Given the description of an element on the screen output the (x, y) to click on. 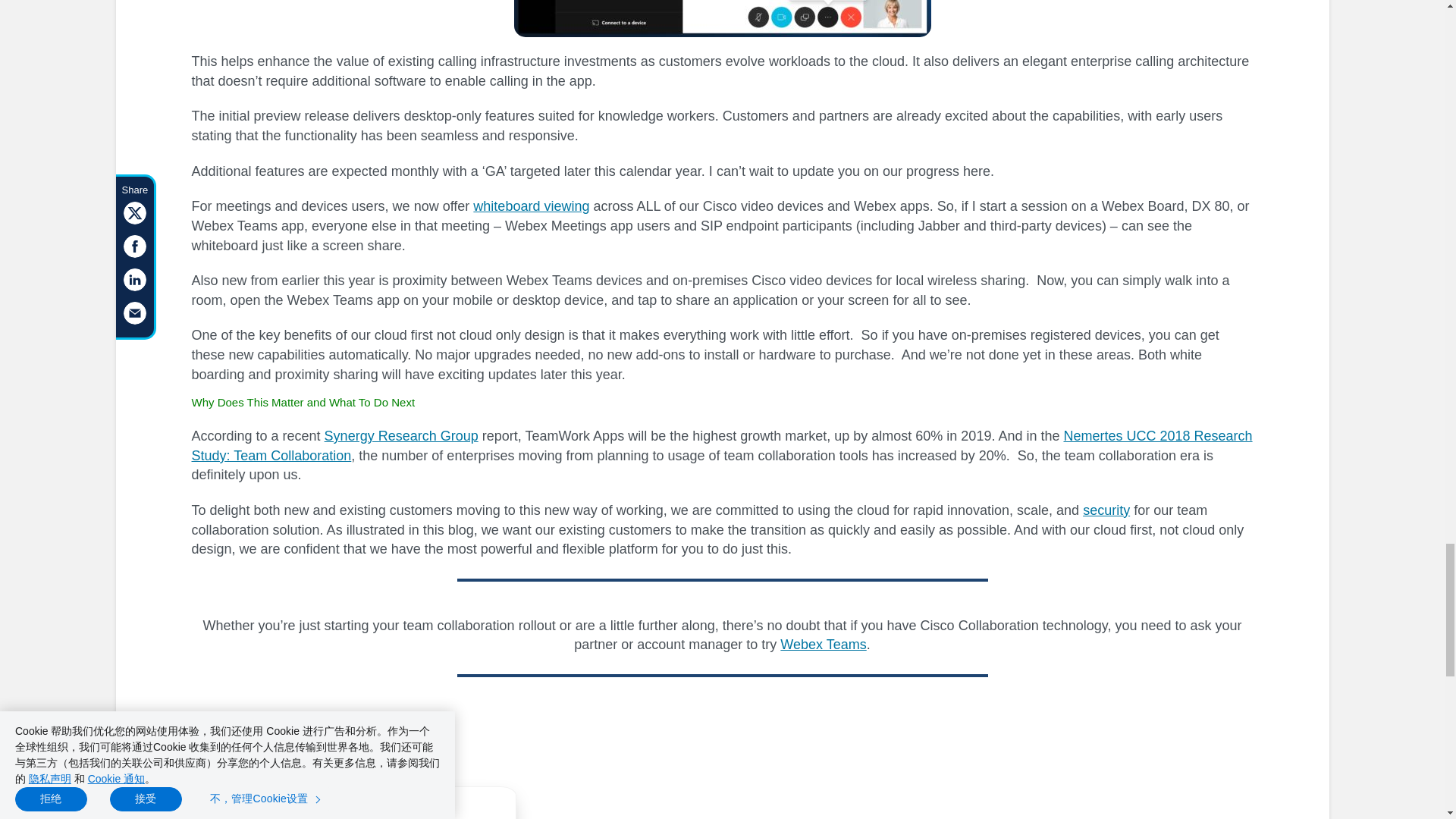
Lorrissa Horton (399, 810)
whiteboard viewing (531, 206)
Synergy Research Group (401, 435)
Webex Teams (823, 644)
security (1106, 509)
